Given the description of an element on the screen output the (x, y) to click on. 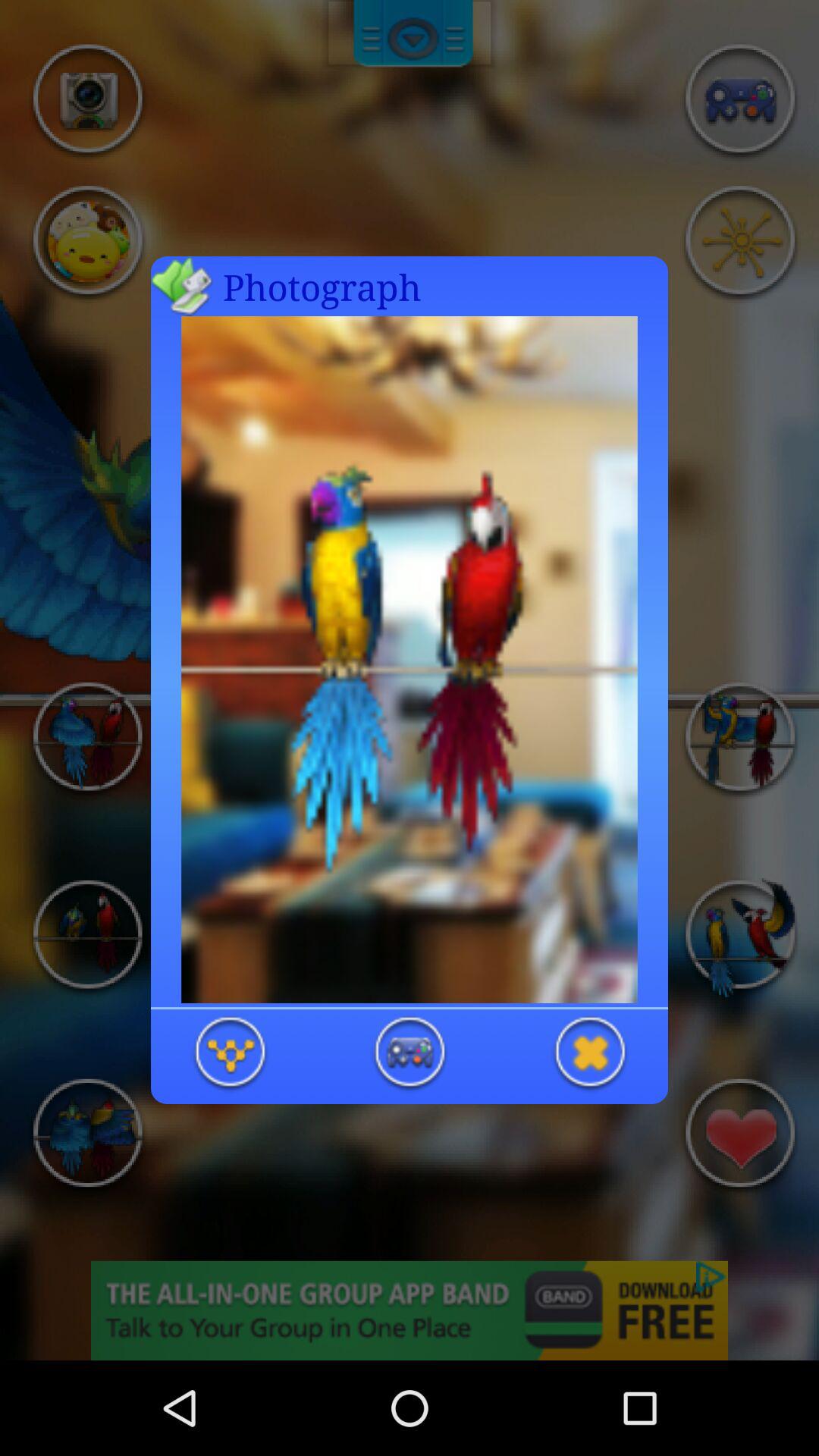
go to advertisement (589, 1054)
